Given the description of an element on the screen output the (x, y) to click on. 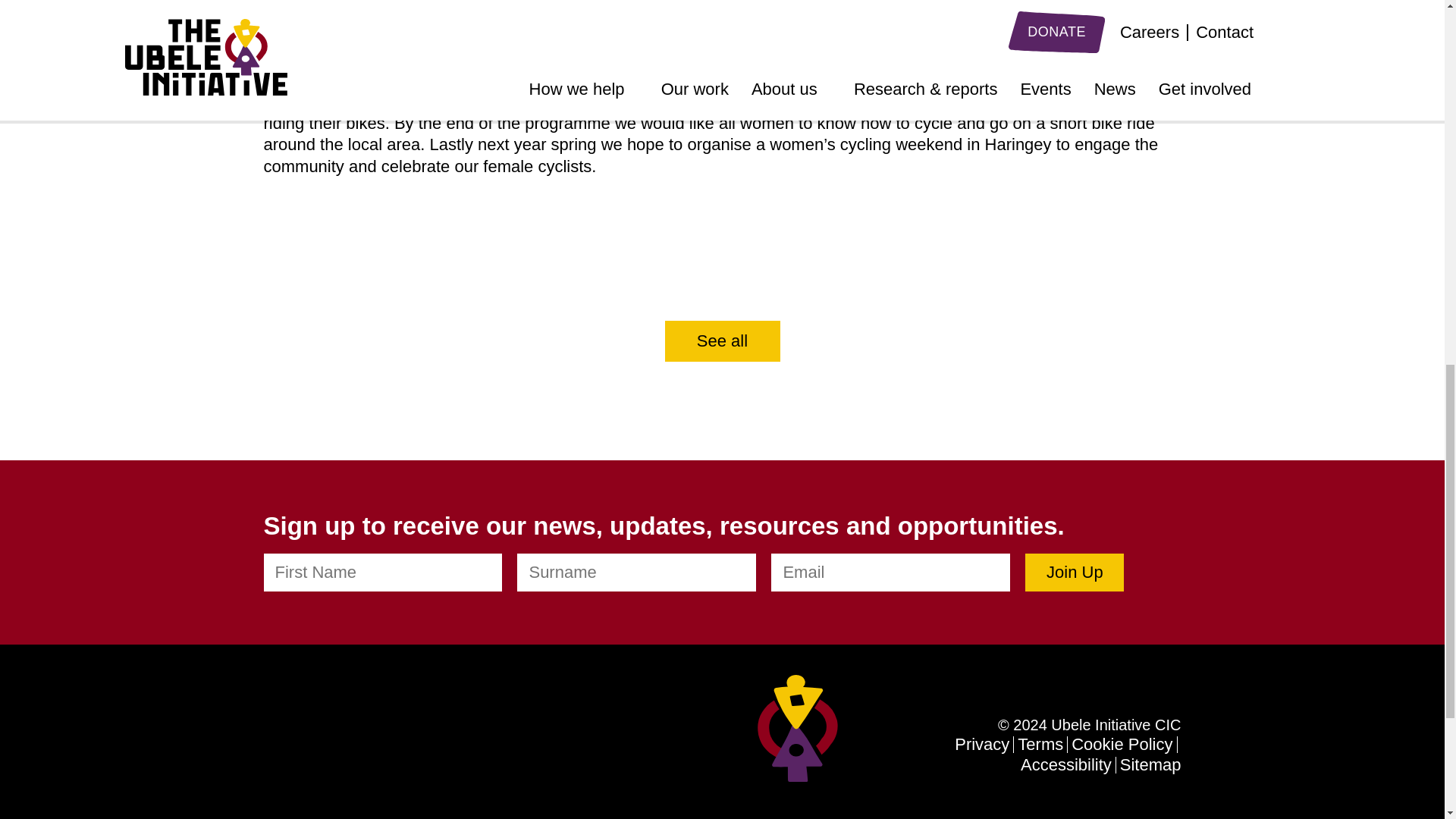
The Ubele Initiative Medium page (416, 749)
The Ubele Initiative Youtube page (386, 749)
See all (720, 341)
The Ubele Initiative Linkedin page (272, 749)
The Ubele Initiative Instagram page (356, 749)
The Ubele Initiative Twitter page (304, 748)
The Ubele Initiative Eventbrite page (447, 749)
Join Up (1074, 572)
